Given the description of an element on the screen output the (x, y) to click on. 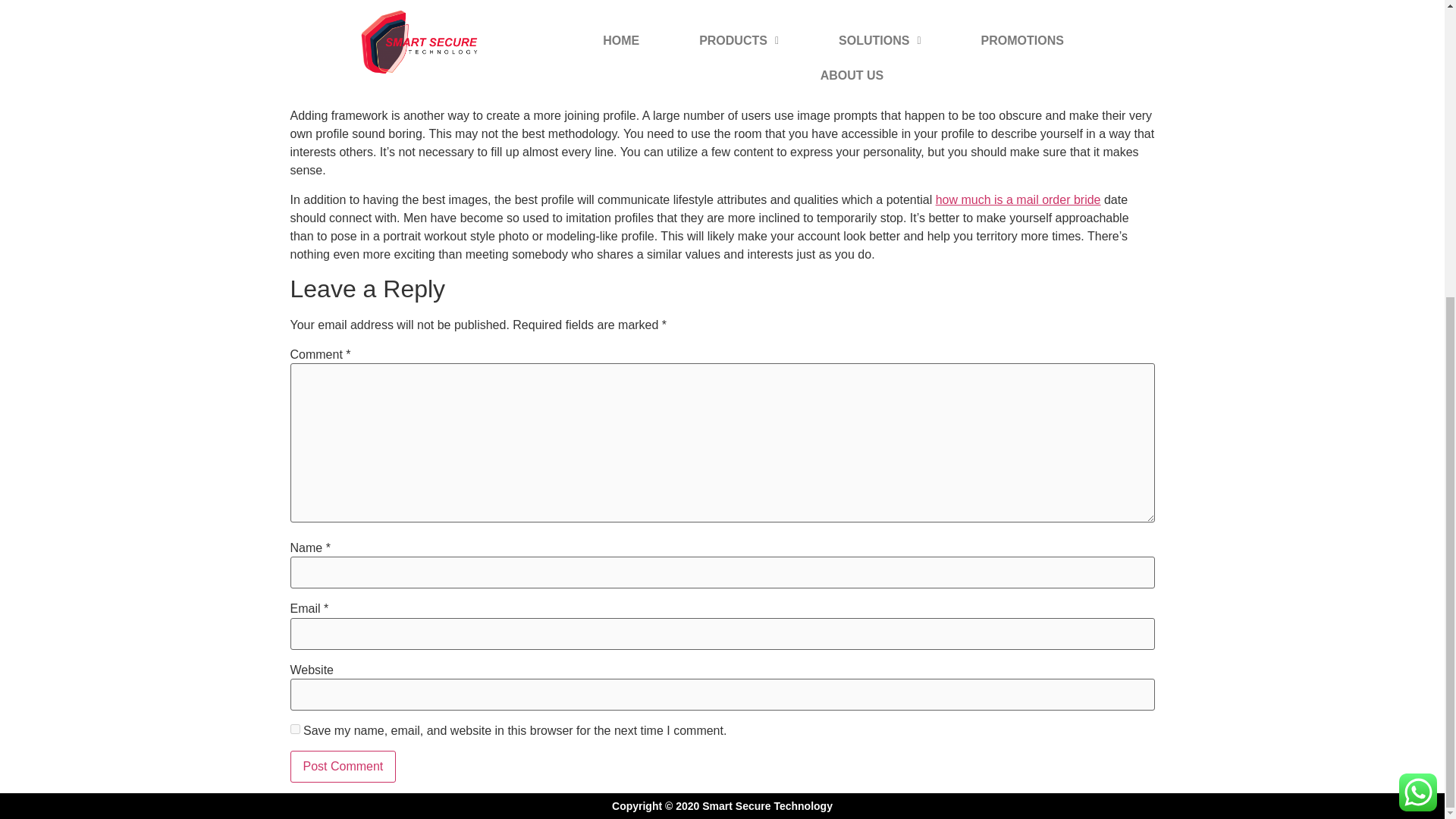
Post Comment (342, 766)
WhatsApp us (1418, 332)
yes (294, 728)
